Given the description of an element on the screen output the (x, y) to click on. 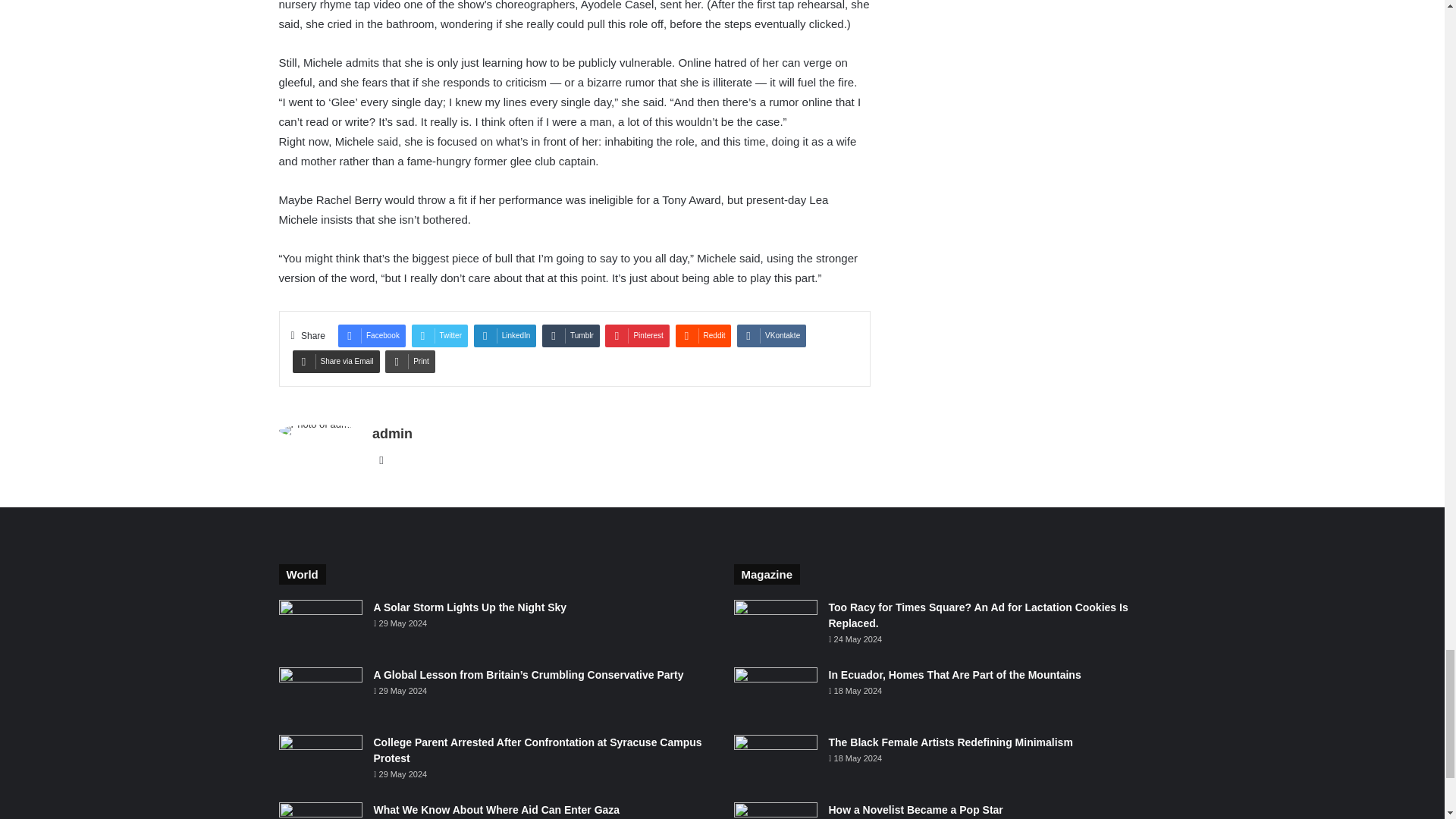
Facebook (371, 335)
LinkedIn (505, 335)
Twitter (439, 335)
Tumblr (570, 335)
